Given the description of an element on the screen output the (x, y) to click on. 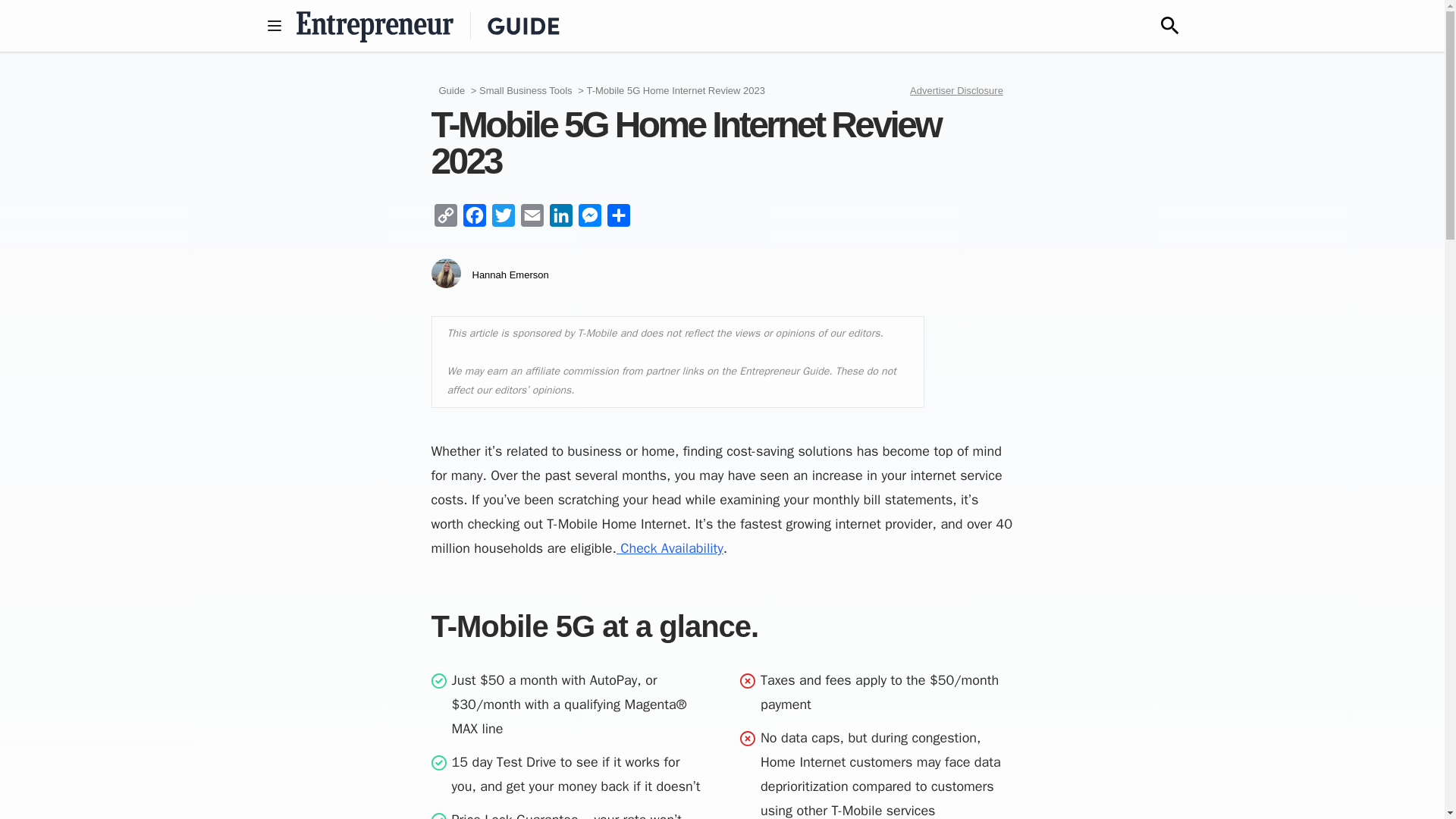
Twitter (501, 218)
Email (531, 218)
Facebook (473, 218)
Copy Link (445, 218)
Messenger (589, 218)
LinkedIn (560, 218)
